Given the description of an element on the screen output the (x, y) to click on. 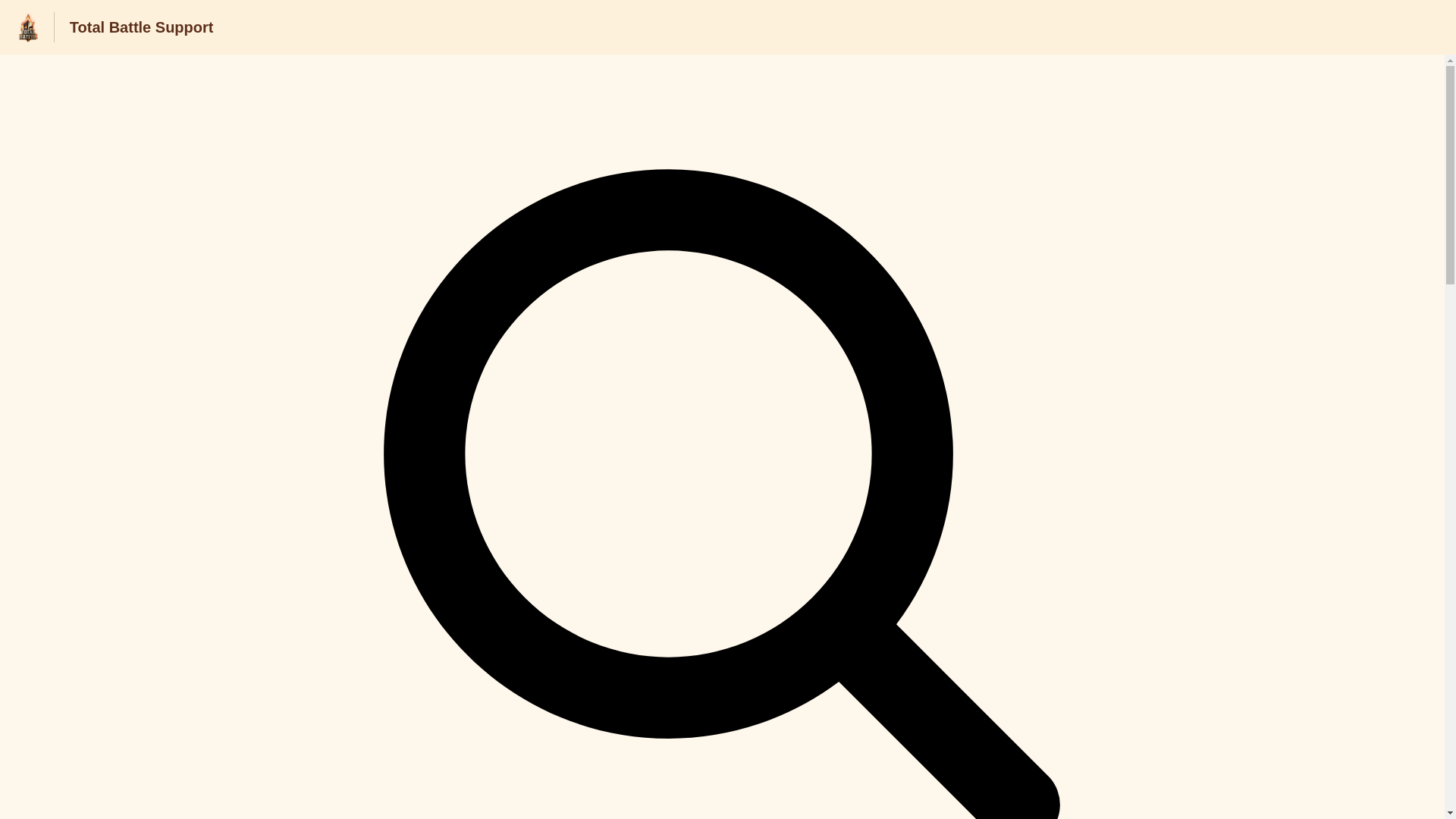
Total Battle Support (141, 27)
